Given the description of an element on the screen output the (x, y) to click on. 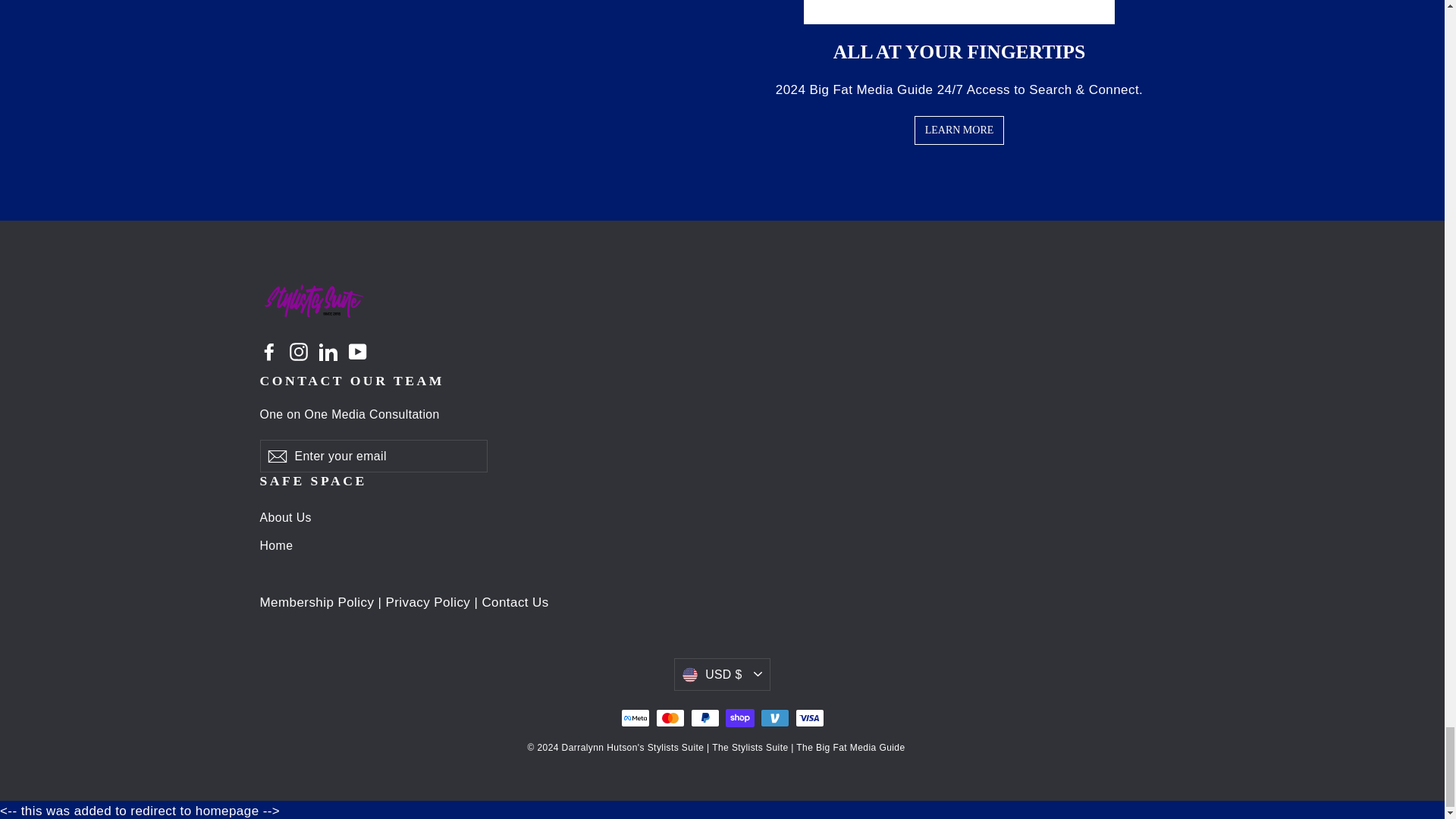
Shop Pay (739, 717)
Venmo (774, 717)
Visa (809, 717)
Mastercard (669, 717)
Darralynn Hutson's Stylists Suite on Facebook (268, 350)
Darralynn Hutson's Stylists Suite on Instagram (298, 350)
Darralynn Hutson's Stylists Suite on LinkedIn (327, 350)
PayPal (704, 717)
Darralynn Hutson's Stylists Suite on YouTube (357, 350)
Meta Pay (634, 717)
